Given the description of an element on the screen output the (x, y) to click on. 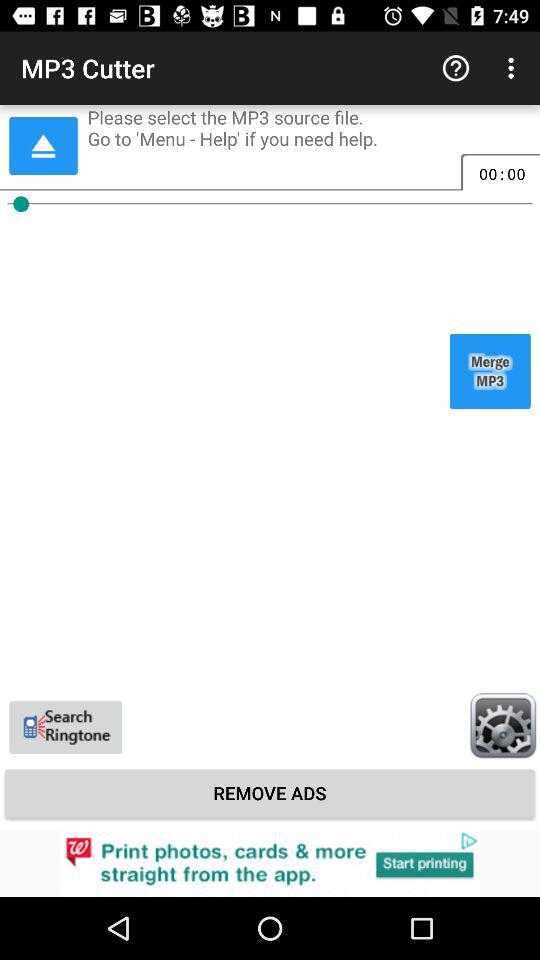
merge mp3 (489, 371)
